Given the description of an element on the screen output the (x, y) to click on. 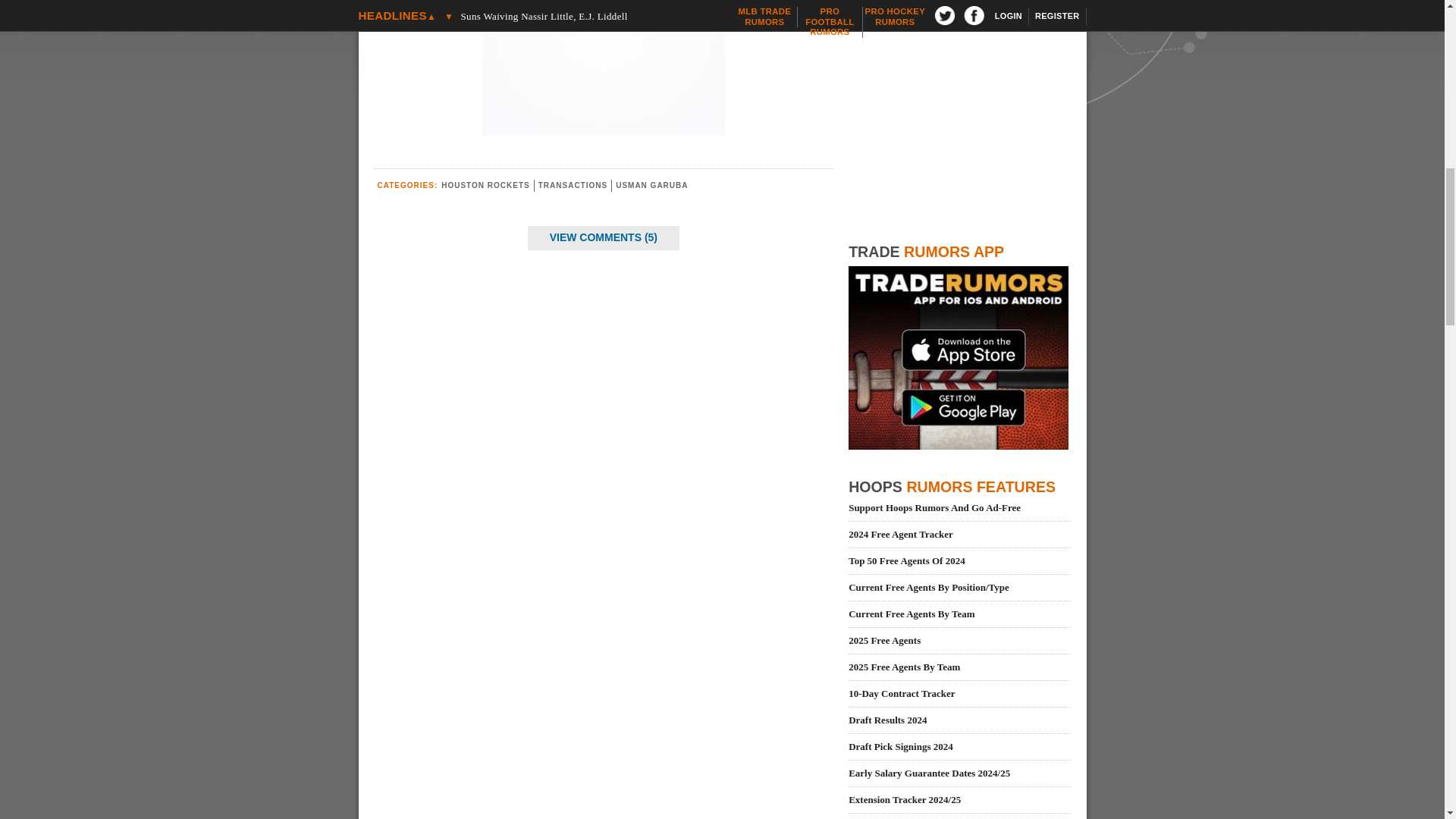
View all posts in Usman Garuba (651, 184)
View all posts in Houston Rockets (485, 184)
3rd party ad content (603, 63)
View all posts in Transactions (572, 184)
